Given the description of an element on the screen output the (x, y) to click on. 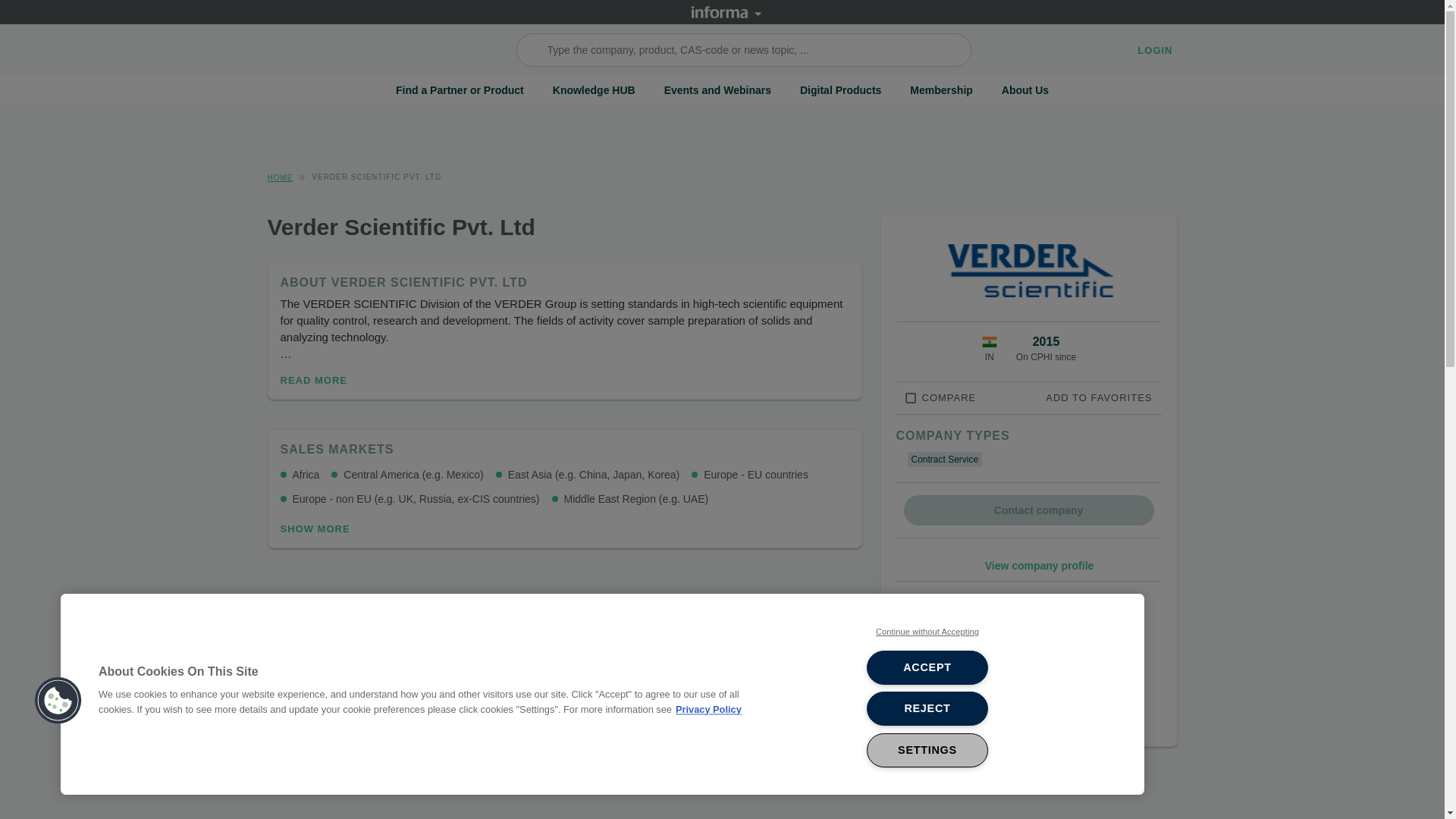
LOGIN (1154, 50)
Membership (941, 90)
Find a Partner or Product (460, 90)
Cookies Button (57, 700)
About Us (1024, 90)
Digital Products (839, 90)
Knowledge HUB (593, 90)
Events and Webinars (717, 90)
